Given the description of an element on the screen output the (x, y) to click on. 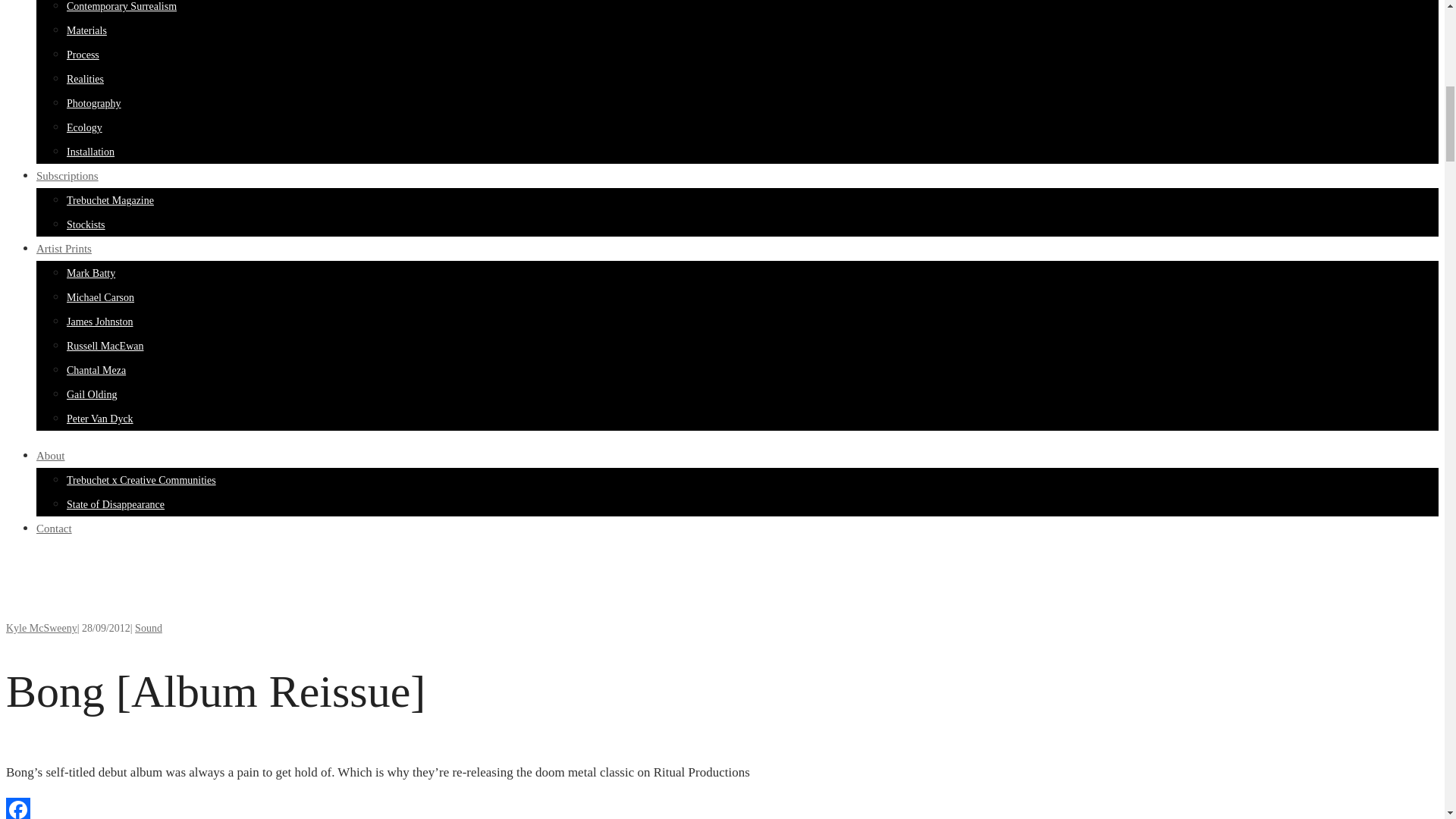
Michael Carson (99, 297)
Subscriptions (67, 175)
Materials (86, 30)
James Johnston (99, 321)
Mark Batty (90, 273)
Installation (90, 152)
Posts by Kyle McSweeny (41, 627)
Process (82, 54)
Trebuchet Magazine (110, 200)
Ecology (83, 127)
Russell MacEwan (104, 346)
Realities (84, 79)
Photography (93, 102)
Contemporary Surrealism (121, 6)
Stockists (85, 224)
